Given the description of an element on the screen output the (x, y) to click on. 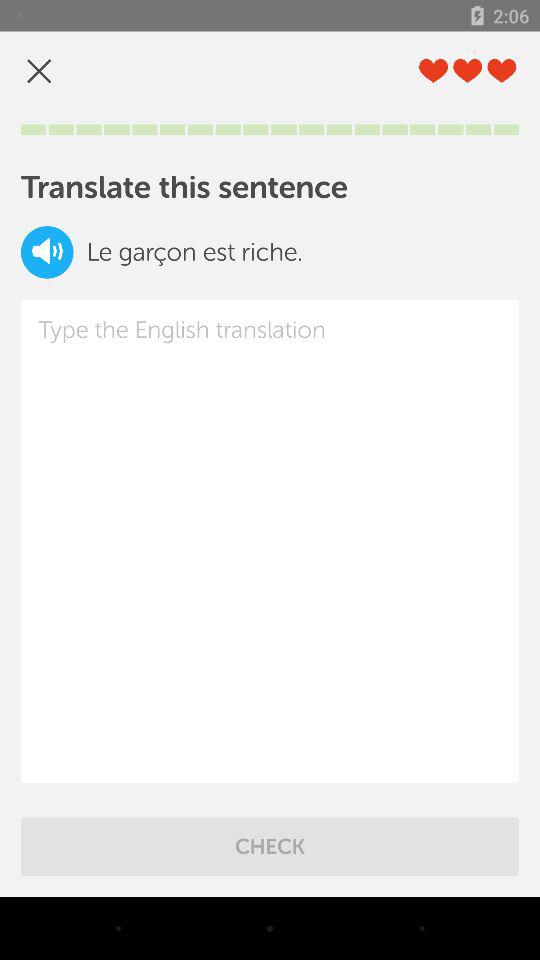
press item below the translate this sentence item (47, 252)
